Given the description of an element on the screen output the (x, y) to click on. 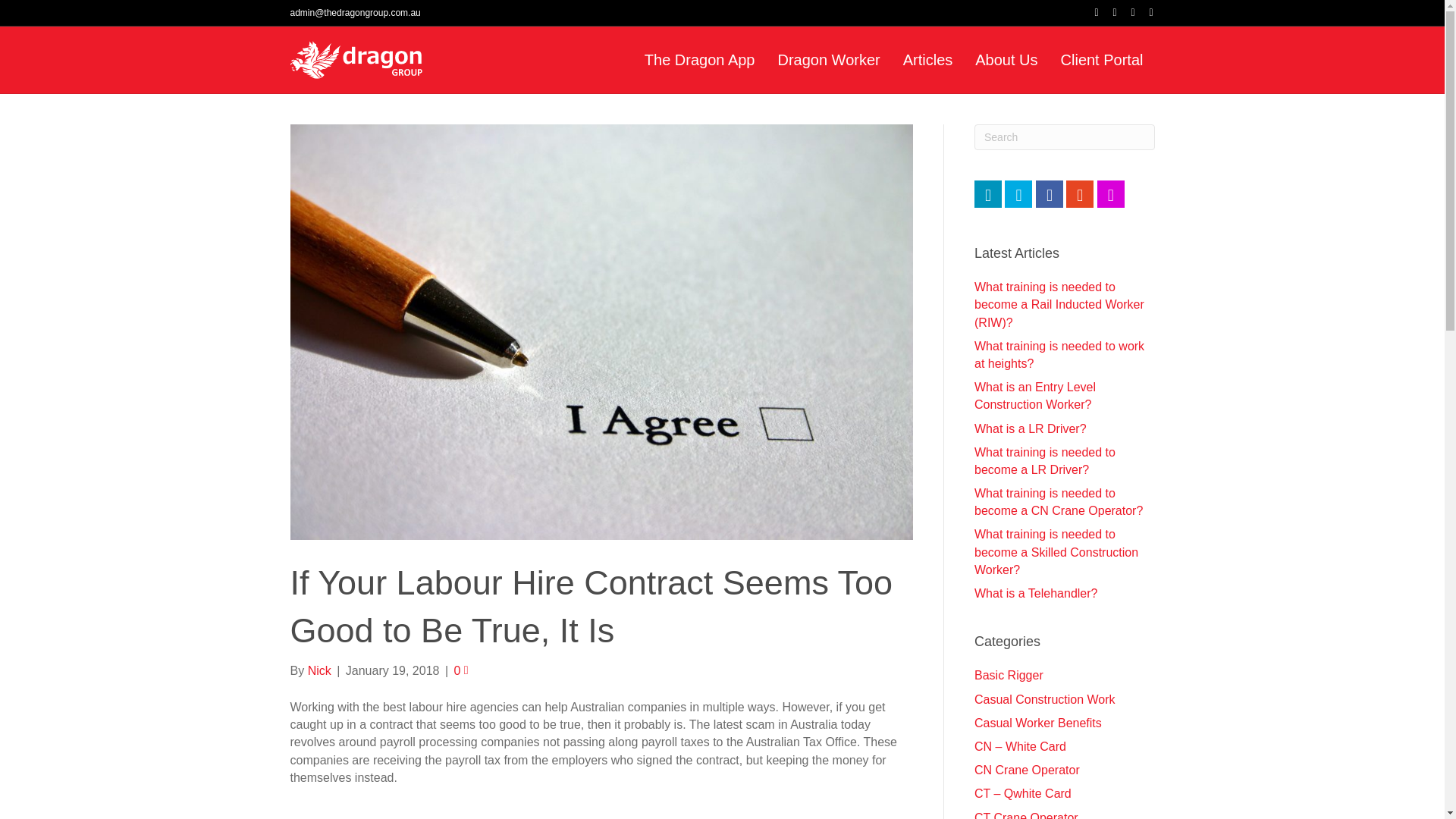
Type and press Enter to search. (1064, 136)
Linkedin (1125, 11)
What training is needed to work at heights? (1059, 354)
Twitter (1106, 11)
The Dragon App (700, 59)
Nick (319, 670)
Client Portal (1101, 59)
About Us (1005, 59)
Instagram (1143, 11)
Dragon Worker (828, 59)
0 (459, 670)
What is a LR Driver? (1030, 427)
What is an Entry Level Construction Worker? (1035, 395)
Articles (927, 59)
What training is needed to become a LR Driver? (1044, 460)
